Given the description of an element on the screen output the (x, y) to click on. 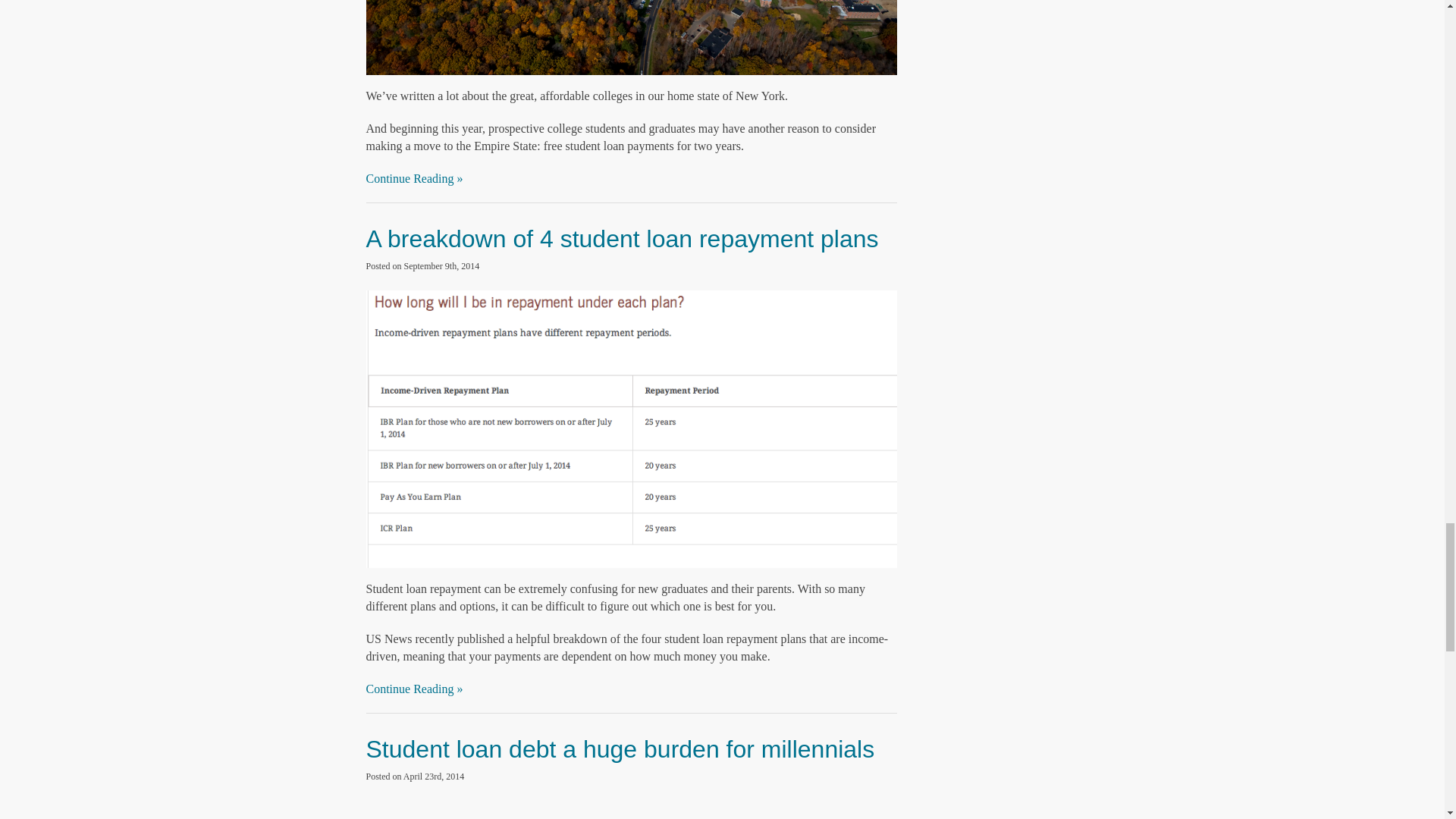
Read more (620, 748)
A breakdown of 4 student loan repayment plans (621, 238)
Read more (621, 238)
Student loan debt a huge burden for millennials (620, 748)
